Given the description of an element on the screen output the (x, y) to click on. 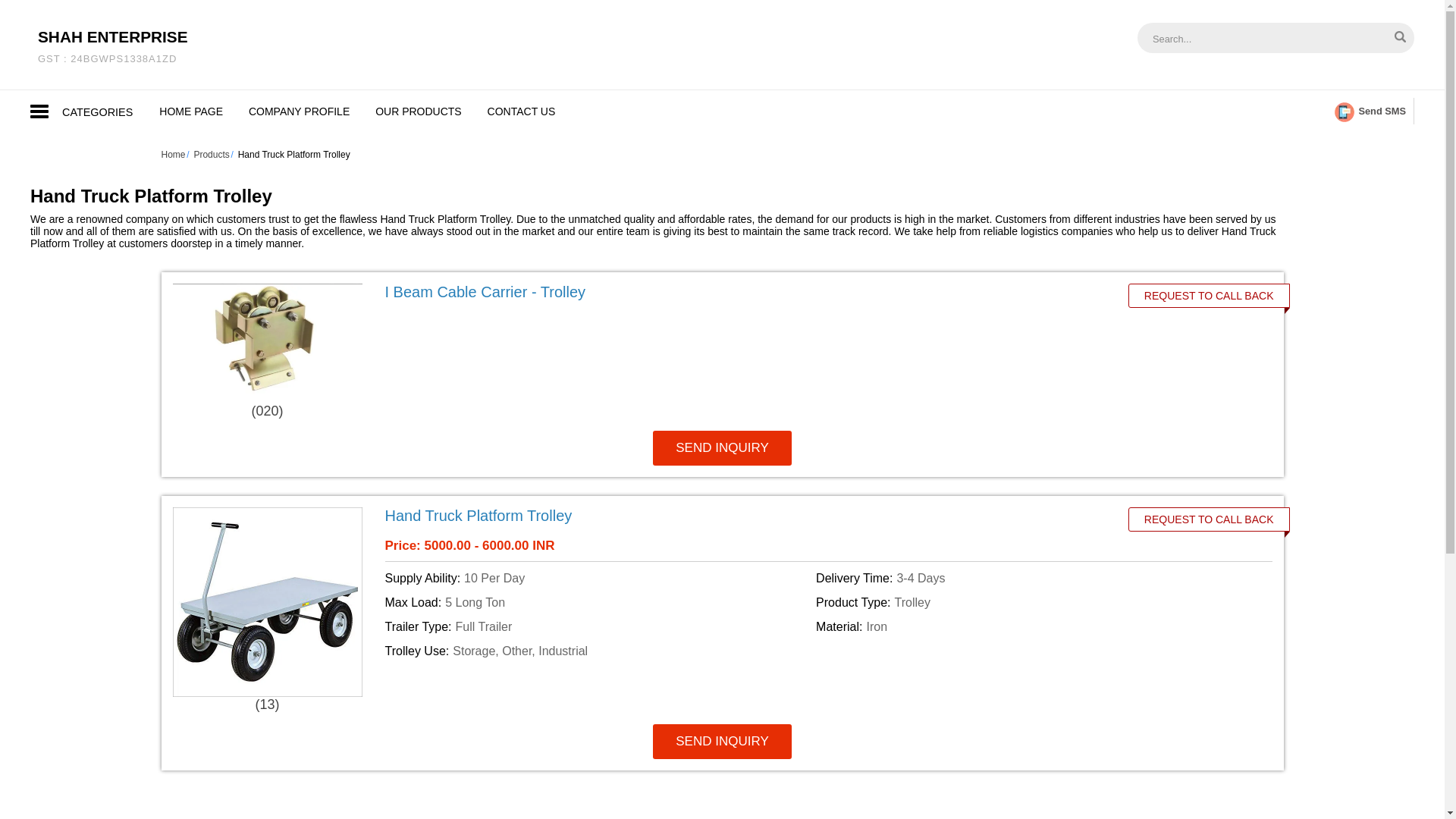
Hand Truck Platform Trolley (478, 514)
CONTACT US (521, 111)
REQUEST TO CALL BACK (1208, 295)
SEND INQUIRY (722, 740)
Search... (1254, 38)
Hand Truck Platform Trolley (739, 515)
Product Type: Trolley (1028, 601)
Send SMS (1369, 110)
Products (112, 46)
I Beam Cable Carrier - Trolley (210, 154)
Trailer Type: Full Trailer (485, 291)
COMPANY PROFILE (597, 626)
HOME PAGE (299, 111)
I Beam Cable Carrier - Trolley (191, 111)
